Given the description of an element on the screen output the (x, y) to click on. 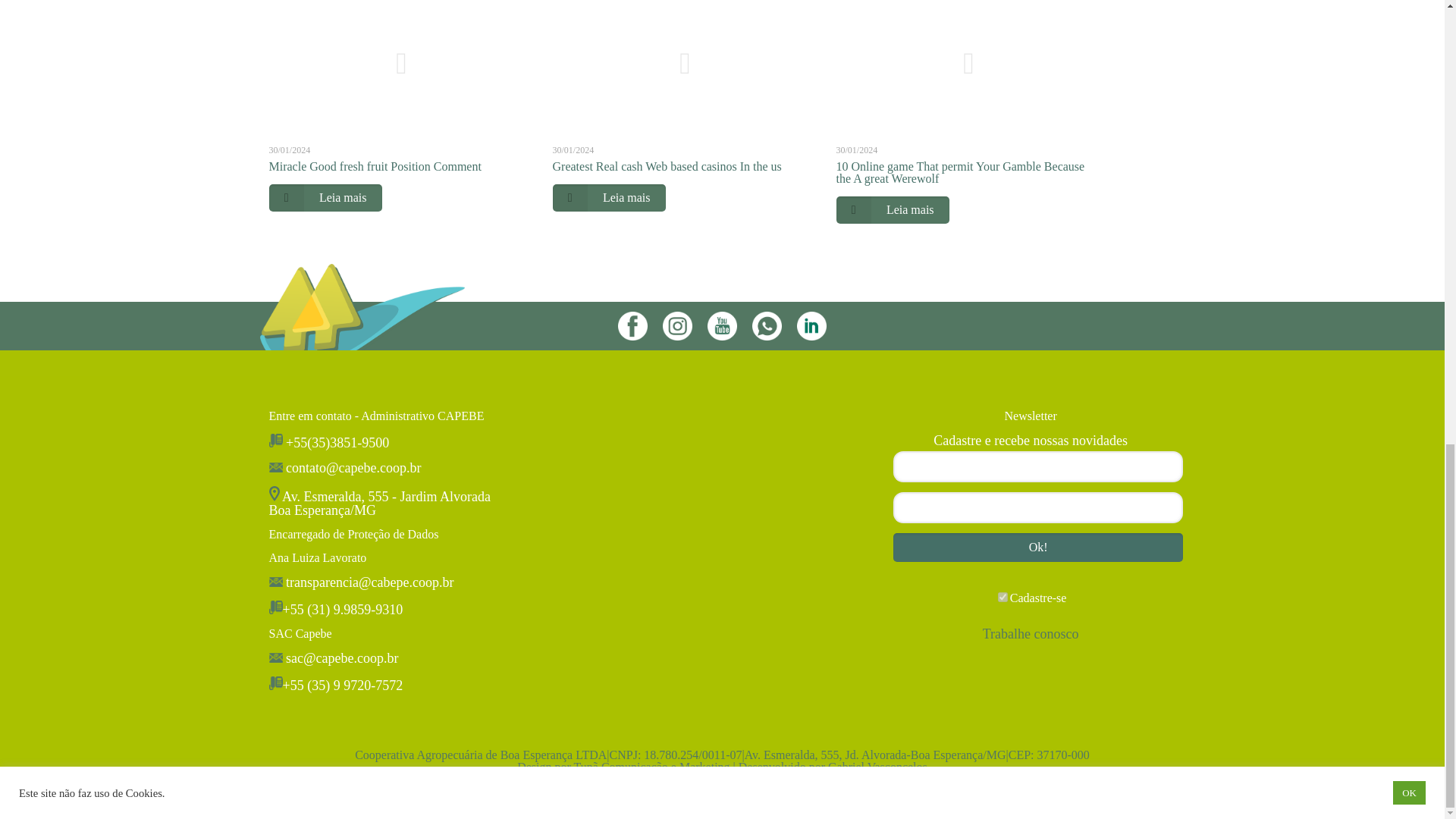
Leia mais (892, 209)
Miracle Good fresh fruit Position Comment (373, 165)
Ok! (1038, 547)
Leia mais (609, 197)
1 (1002, 596)
Gabriel Vasconcelos (877, 766)
Ok! (1038, 547)
Leia mais (324, 197)
Trabalhe conosco (1030, 633)
Greatest Real cash Web based casinos In the us (667, 165)
